Given the description of an element on the screen output the (x, y) to click on. 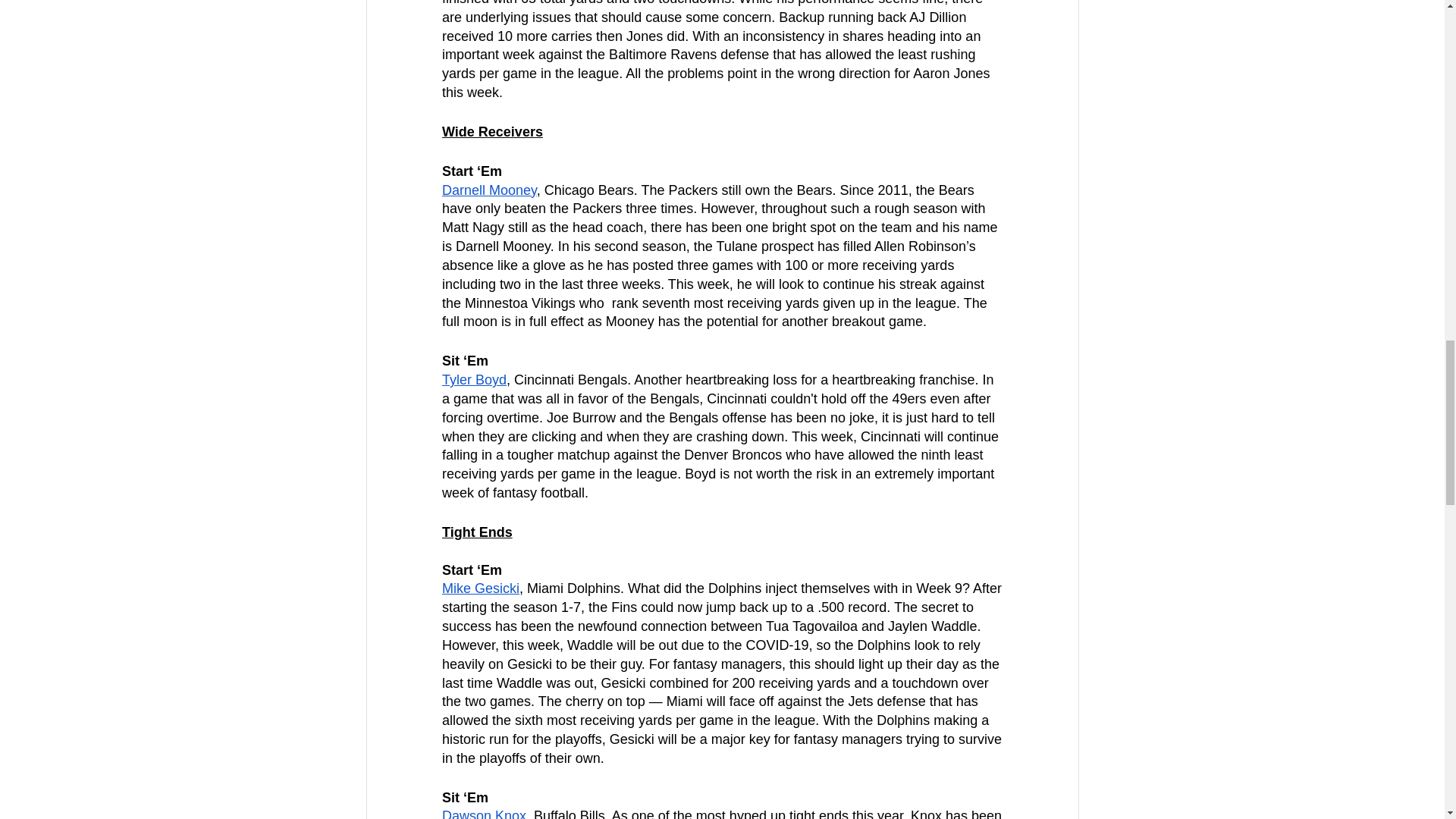
Tyler Boyd (473, 379)
Dawson Knox (483, 813)
Darnell Mooney (488, 190)
Mike Gesicki (479, 588)
